Given the description of an element on the screen output the (x, y) to click on. 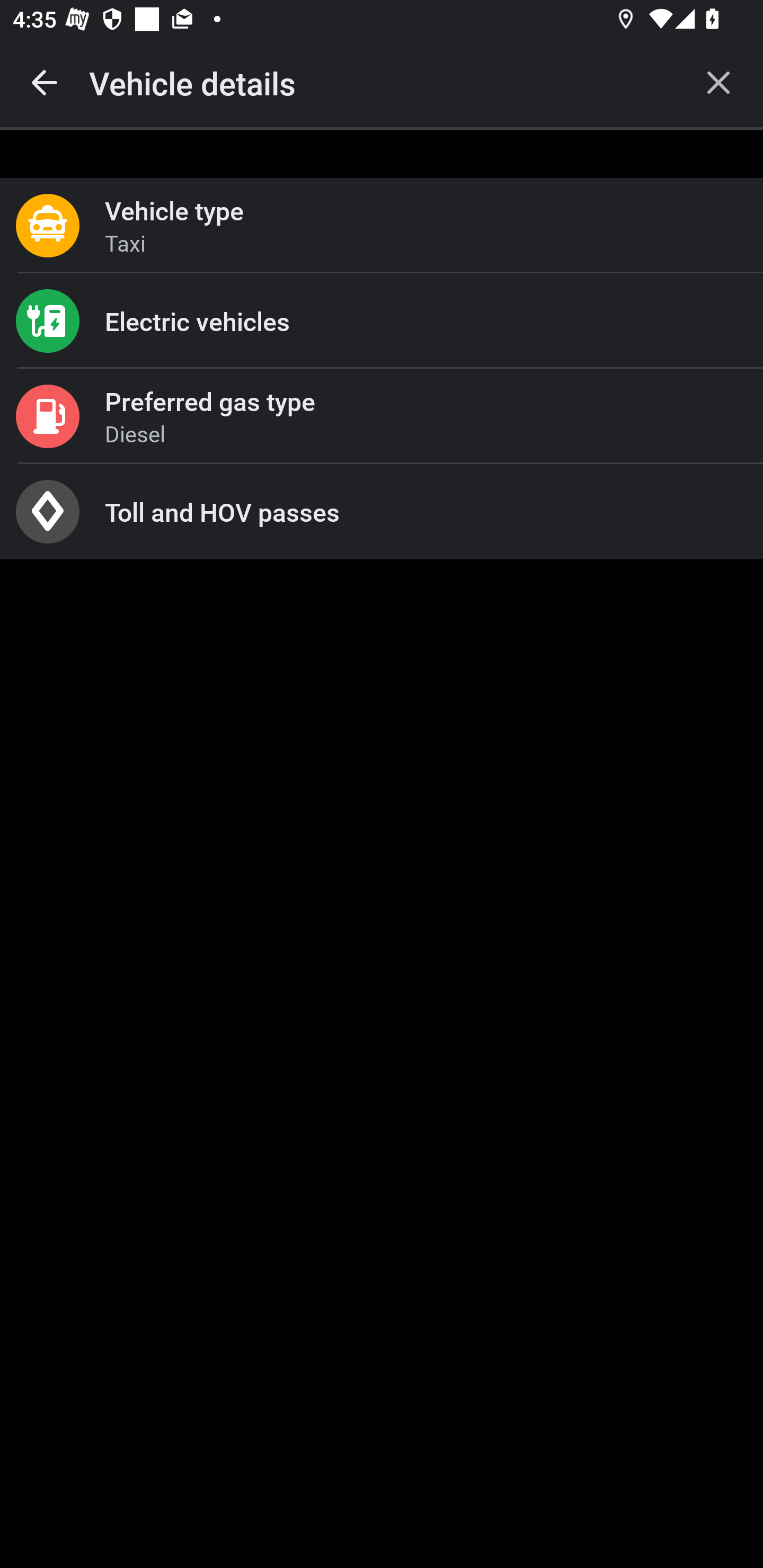
Vehicle type Taxi (381, 225)
Electric vehicles (381, 320)
Preferred gas type Diesel (381, 416)
Toll and HOV passes (381, 511)
